Given the description of an element on the screen output the (x, y) to click on. 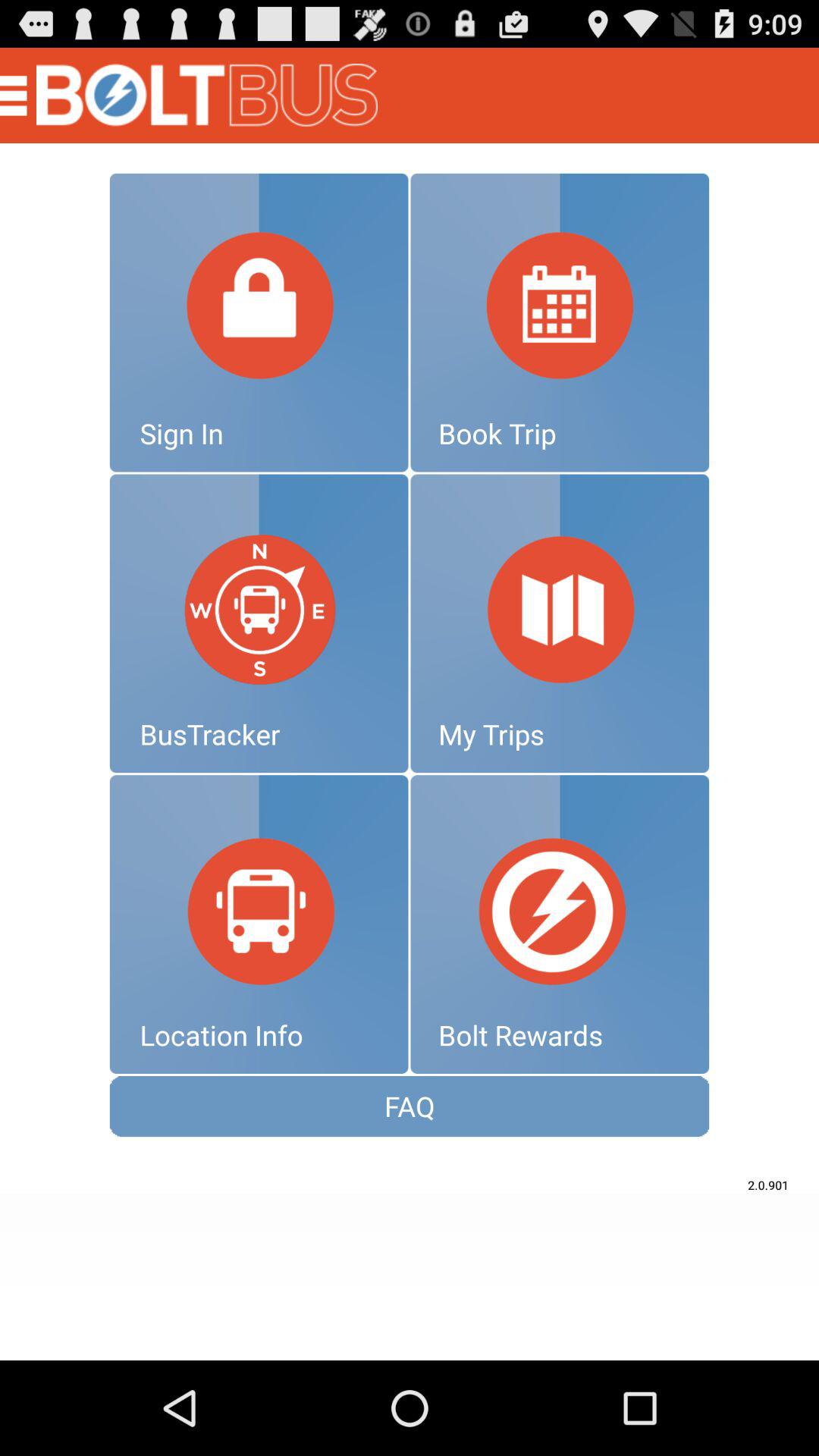
schedule to book trip (559, 322)
